Given the description of an element on the screen output the (x, y) to click on. 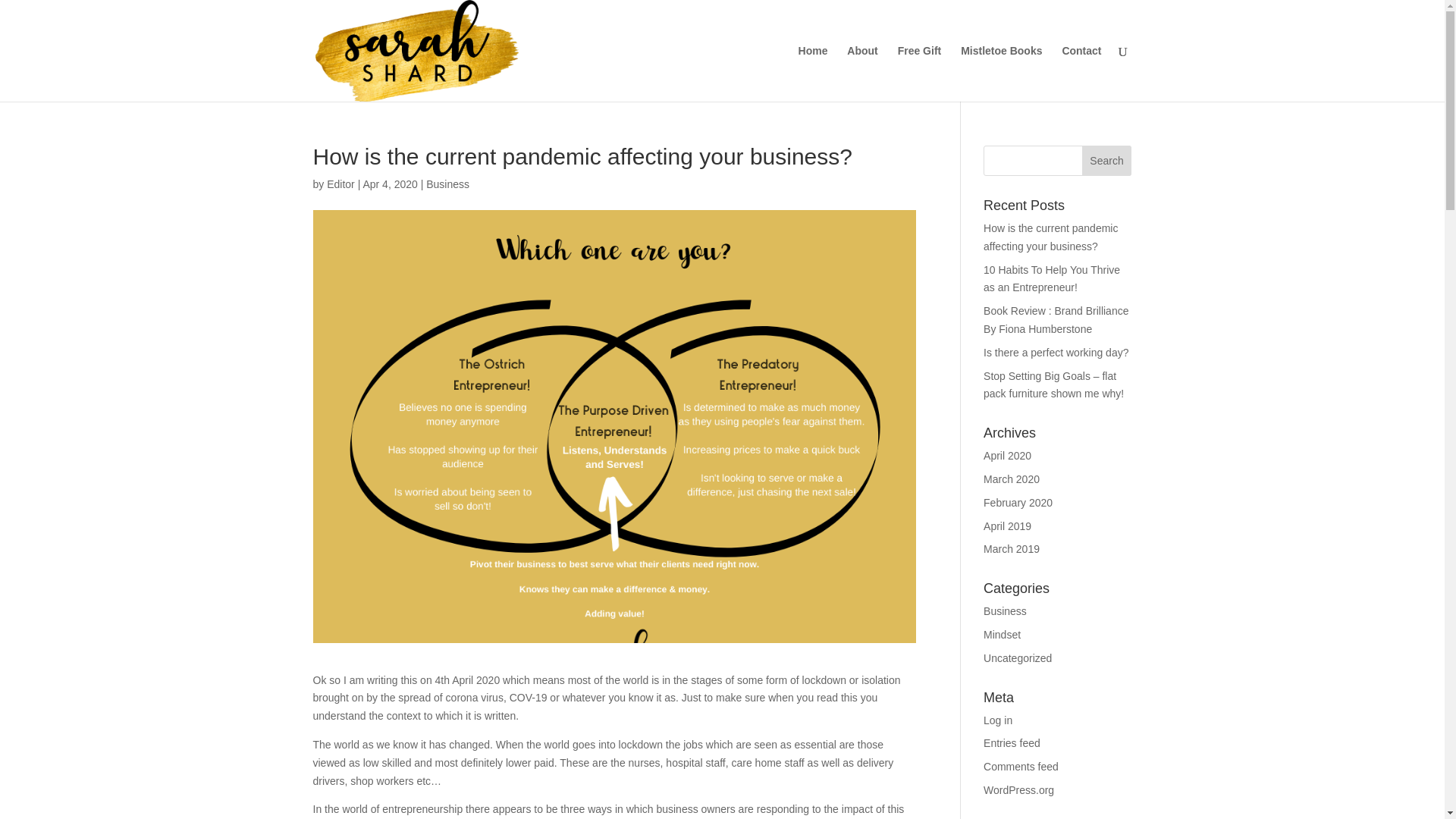
How is the current pandemic affecting your business? (1051, 236)
Log in (997, 720)
Comments feed (1021, 766)
Search (1106, 160)
Mistletoe Books (1001, 73)
10 Habits To Help You Thrive as an Entrepreneur! (1051, 278)
Entries feed (1012, 743)
Business (447, 184)
February 2020 (1018, 502)
March 2020 (1011, 479)
